Given the description of an element on the screen output the (x, y) to click on. 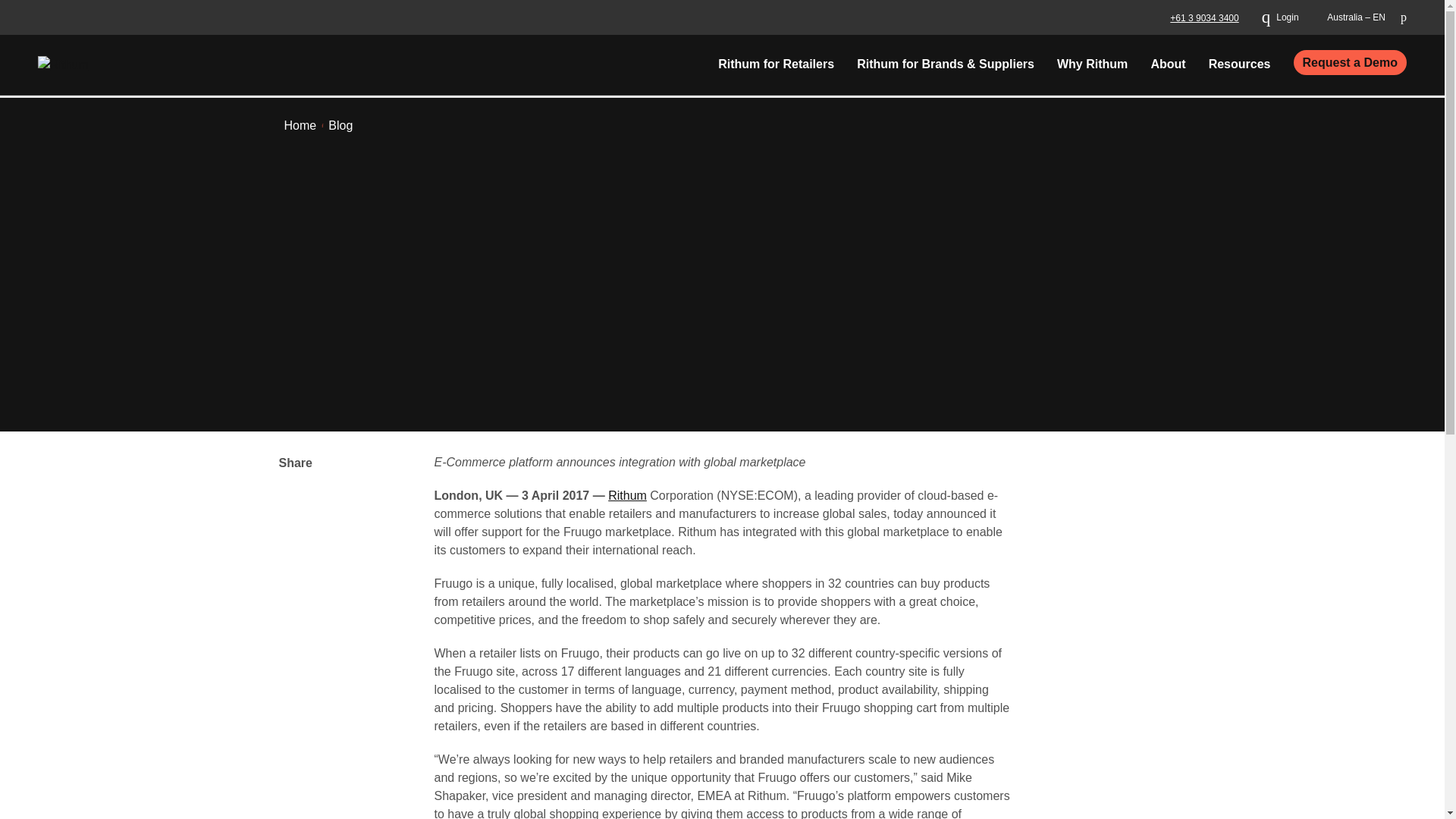
Go to Rithum. (299, 126)
 Australia - EN (1355, 17)
Go to Rithum Adds Support For Fruugo Marketplace. (340, 126)
